Given the description of an element on the screen output the (x, y) to click on. 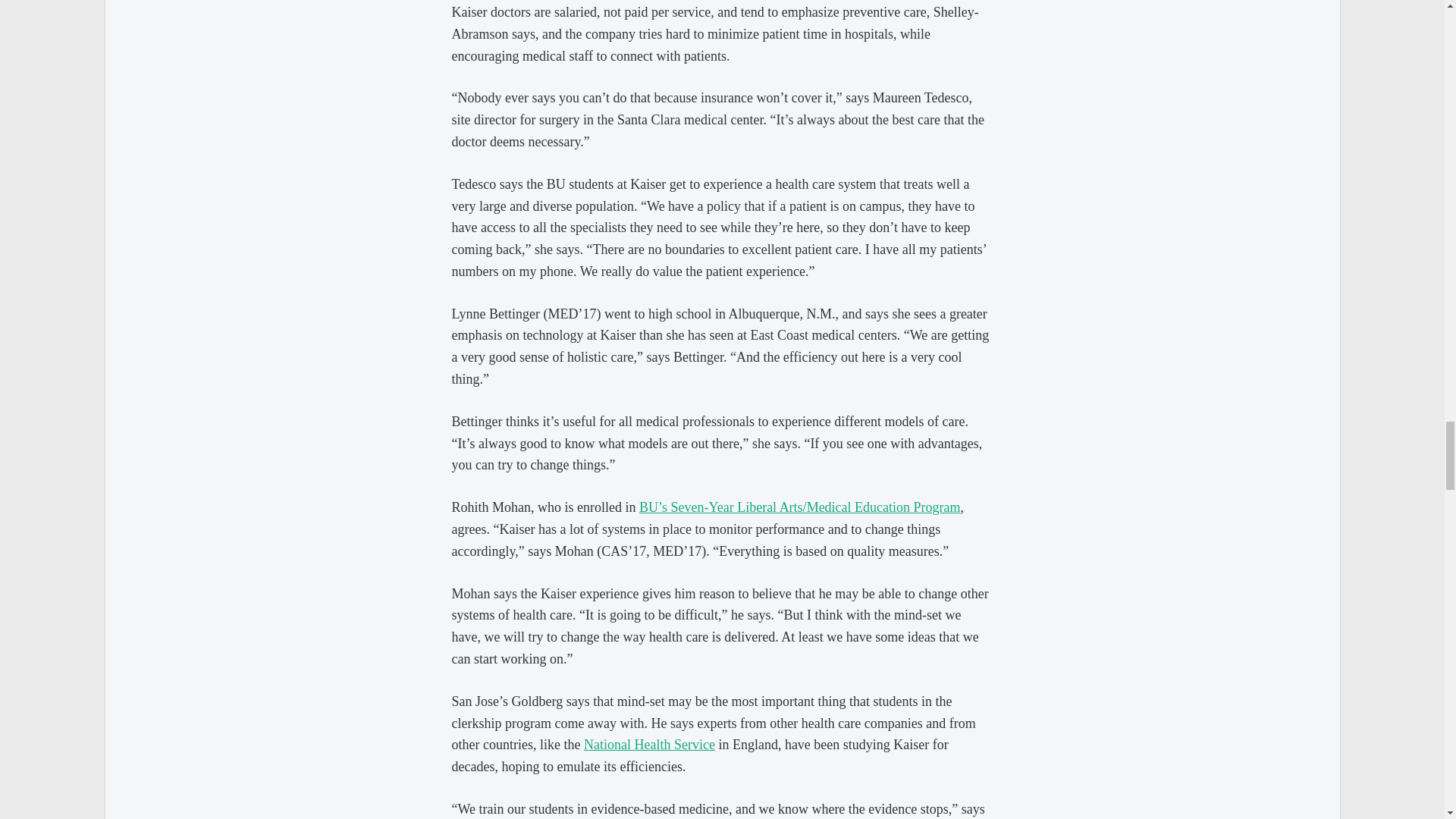
National Health Service (648, 744)
